Given the description of an element on the screen output the (x, y) to click on. 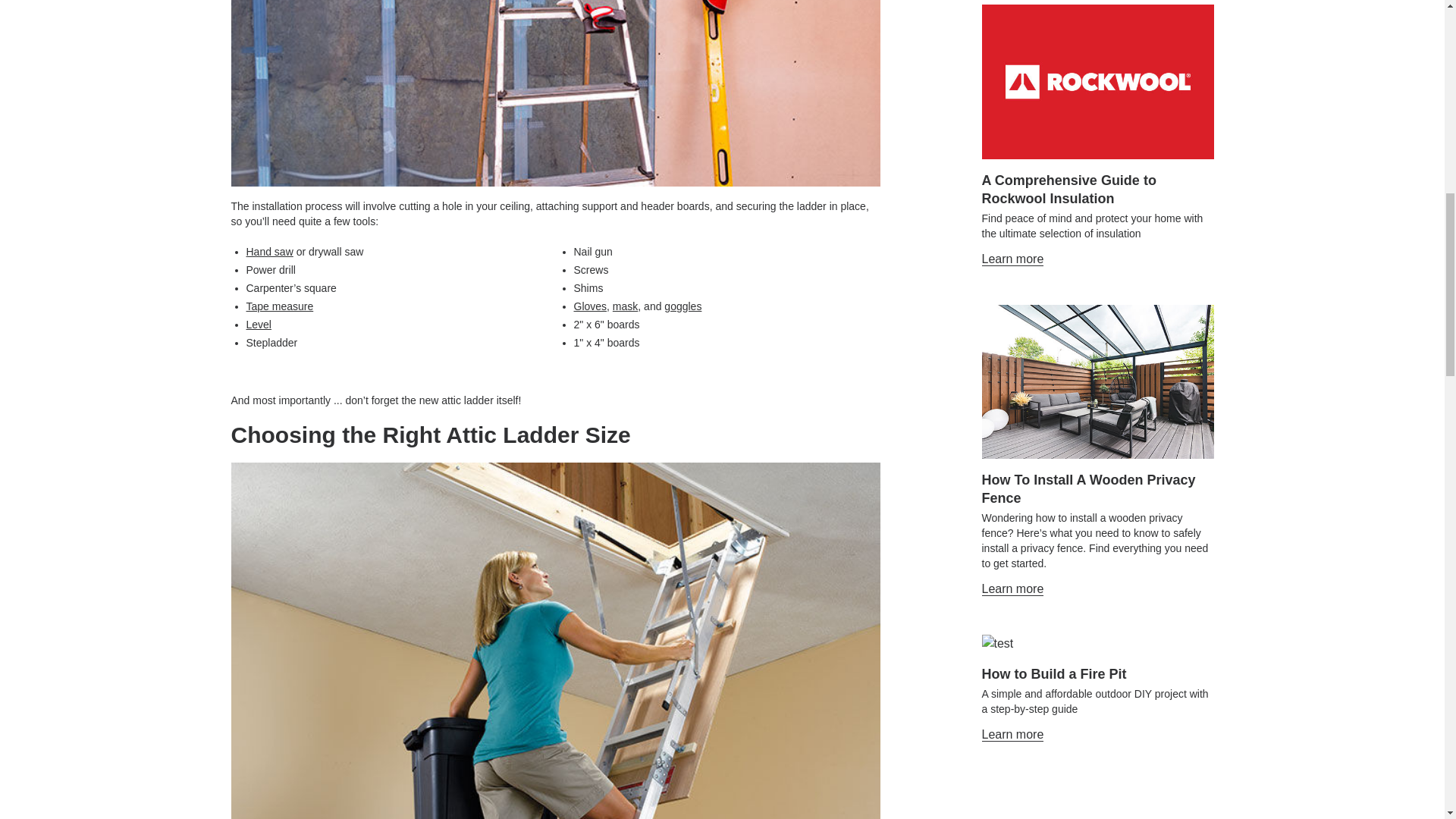
Learn more (1012, 259)
Tape measure (279, 306)
Level (258, 324)
mask (624, 306)
Learn more (1012, 735)
goggles (682, 306)
Ladder, power drill, level, and safety gloves (554, 93)
Gloves (590, 306)
Learn more (1012, 589)
